Given the description of an element on the screen output the (x, y) to click on. 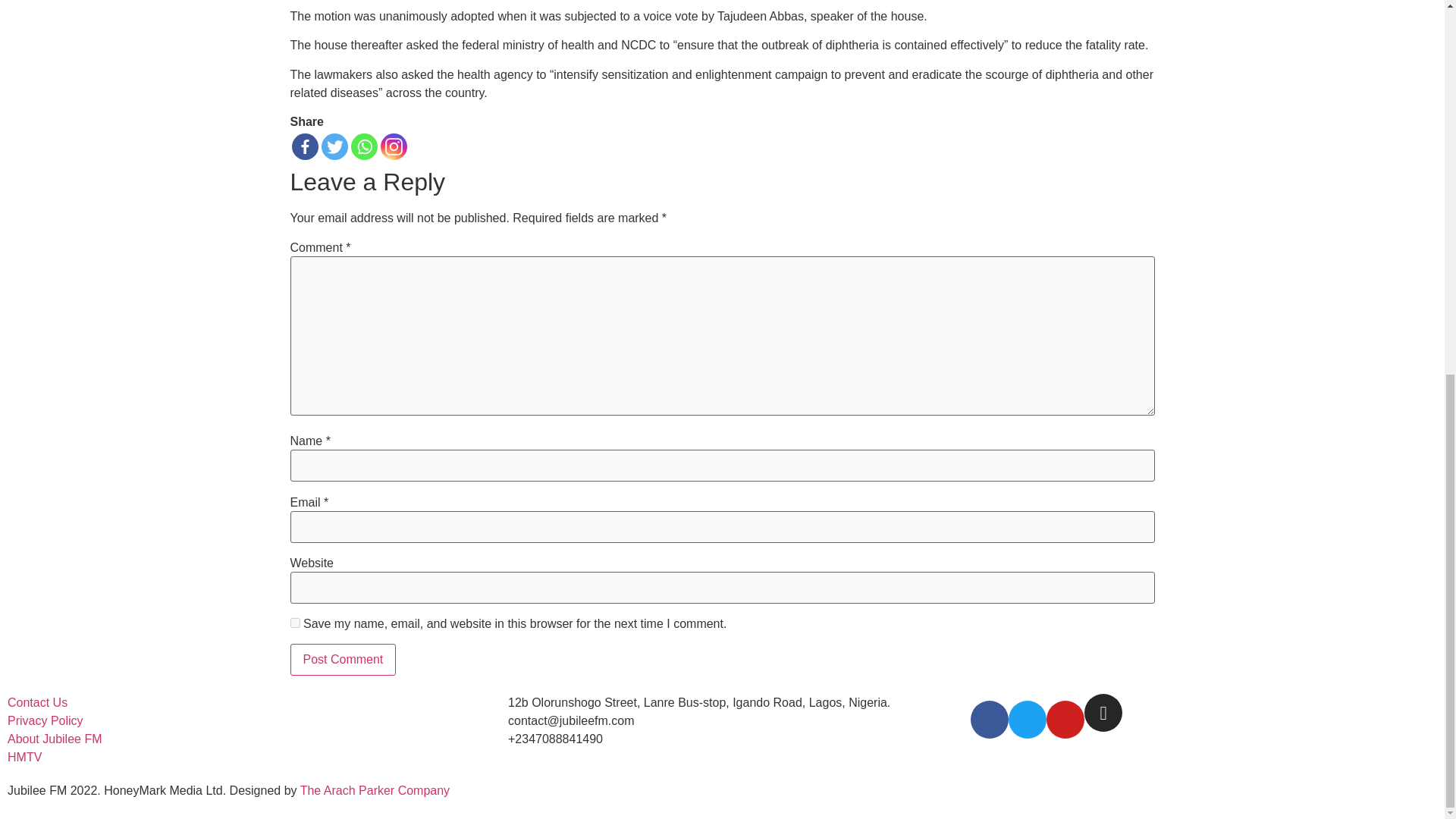
Contact Us (36, 702)
HMTV (24, 757)
Instagram (393, 146)
Post Comment (342, 659)
About Jubilee FM (54, 739)
Whatsapp (363, 146)
The Arach Parker Company (374, 789)
Facebook (304, 146)
Twitter (334, 146)
Post Comment (342, 659)
